Given the description of an element on the screen output the (x, y) to click on. 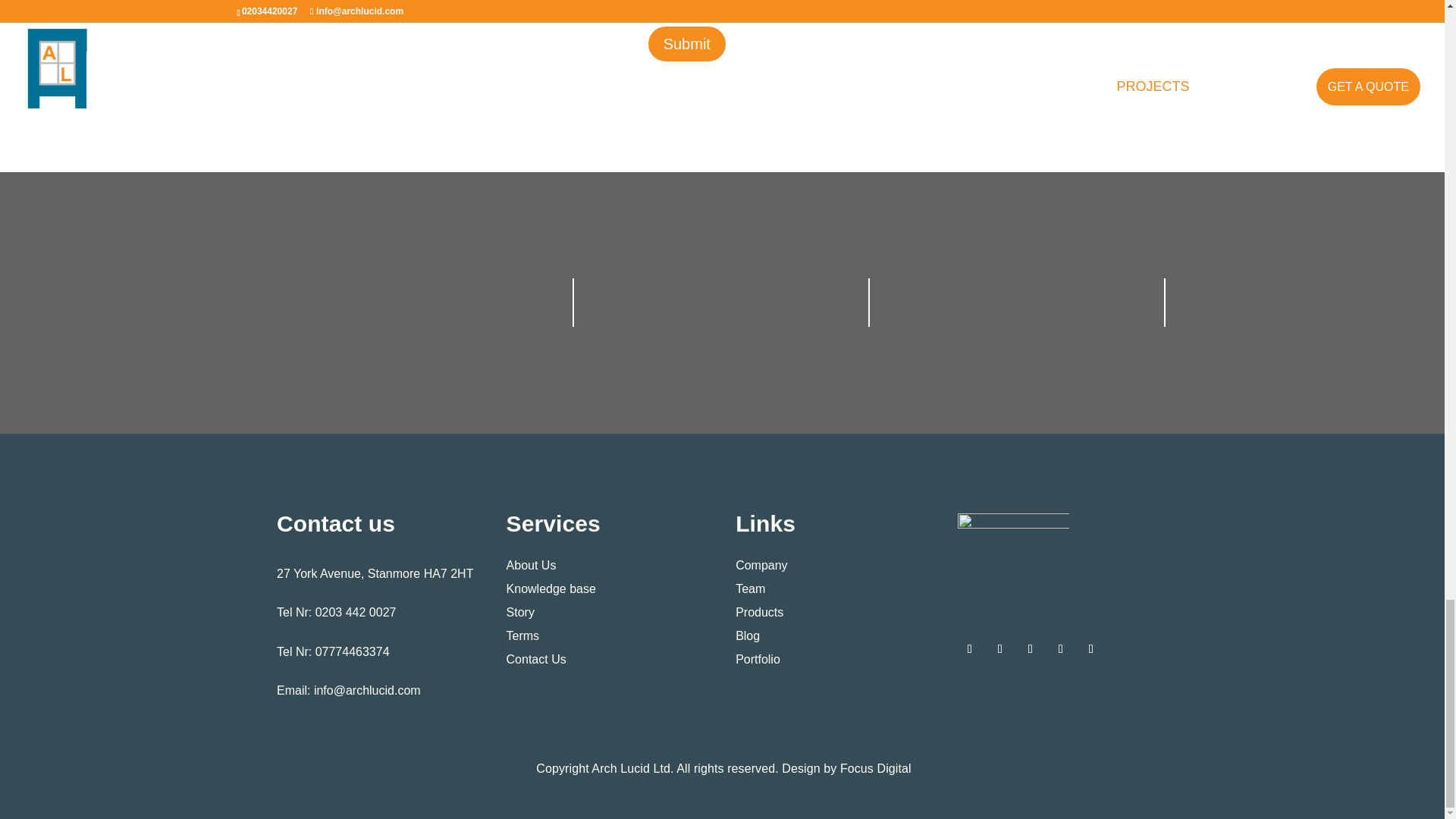
Terms (523, 635)
Company (761, 564)
Contact Us (536, 658)
Team (750, 588)
About Us (531, 564)
Portfolio (757, 658)
Submit (686, 44)
Products (759, 612)
Submit (686, 44)
Knowledge base (550, 588)
